Given the description of an element on the screen output the (x, y) to click on. 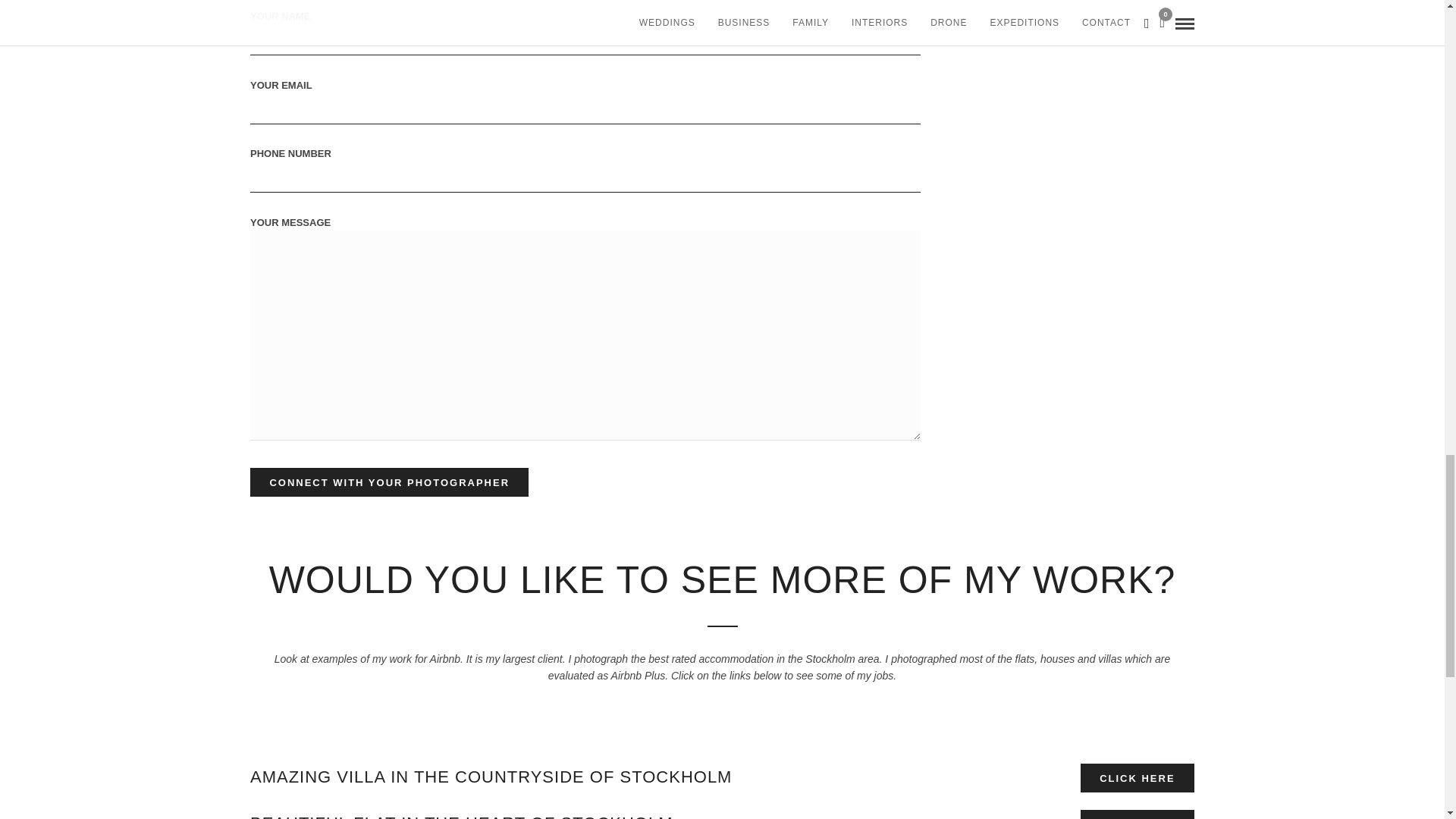
Connect with your Photographer (389, 481)
CLICK HERE (1136, 814)
Connect with your Photographer (389, 481)
CLICK HERE (1136, 777)
